Given the description of an element on the screen output the (x, y) to click on. 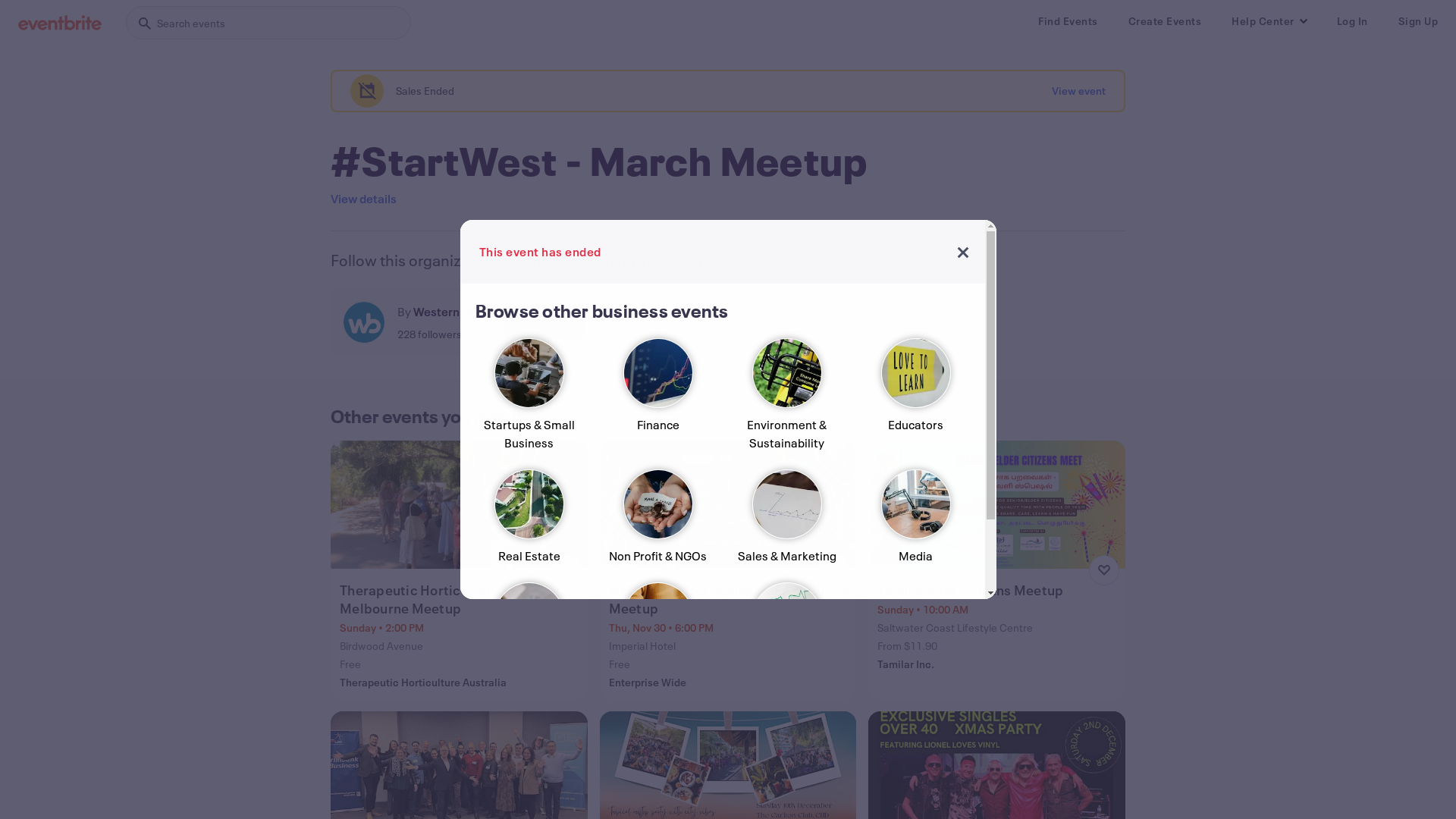
Non Profit & NGOs Element type: text (657, 522)
Investment Element type: text (785, 635)
View details Element type: text (363, 198)
Startups & Small Business Element type: text (528, 400)
Career Element type: text (657, 635)
Design Element type: text (528, 635)
Find Events Element type: text (1068, 21)
Eventbrite Element type: hover (59, 22)
Tamil Senior Citizens Meetup Element type: text (998, 589)
Educators Element type: text (914, 400)
Inspiring Better Business: SAP B2B CX Meetup Element type: text (729, 598)
Create Events Element type: text (1165, 21)
Real Estate Element type: text (528, 522)
Search events Element type: text (268, 22)
Media Element type: text (914, 522)
Sales & Marketing Element type: text (785, 522)
Environment & Sustainability Element type: text (785, 400)
Sign Up Element type: text (1418, 21)
Finance Element type: text (657, 400)
Follow Element type: text (543, 321)
Therapeutic Horticulture Australia Melbourne Meetup Element type: text (460, 598)
View event Element type: text (1078, 90)
Log In Element type: text (1351, 21)
